Given the description of an element on the screen output the (x, y) to click on. 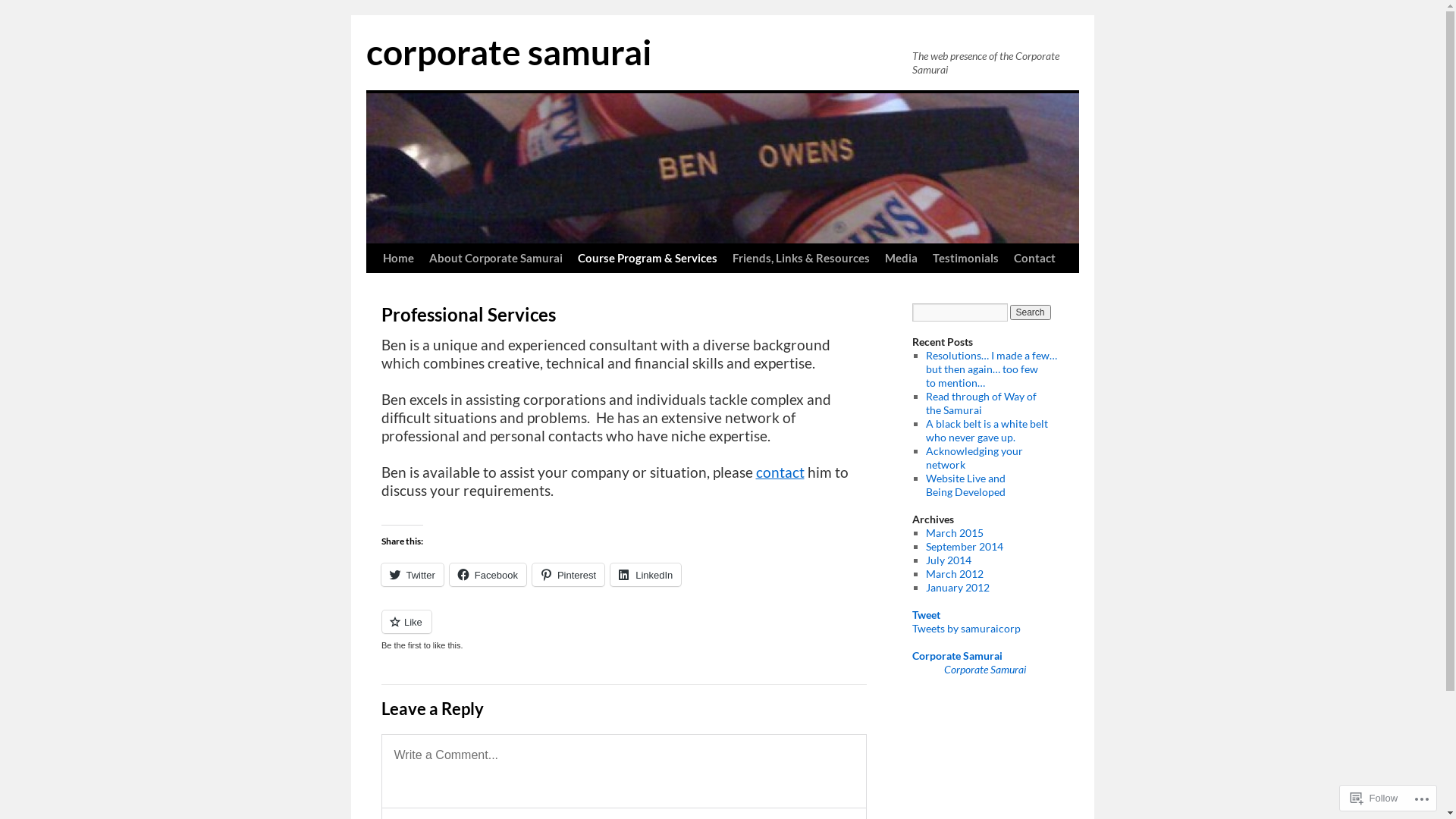
Facebook Element type: text (487, 574)
A black belt is a white belt who never gave up. Element type: text (986, 430)
Pinterest Element type: text (568, 574)
About Corporate Samurai Element type: text (495, 258)
Testimonials Element type: text (965, 258)
July 2014 Element type: text (948, 559)
Tweet Element type: text (925, 614)
LinkedIn Element type: text (645, 574)
Read through of Way of the Samurai Element type: text (980, 402)
Website Live and Being Developed Element type: text (965, 484)
March 2012 Element type: text (954, 573)
Like or Reblog Element type: hover (623, 630)
Contact Element type: text (1033, 258)
Friends, Links & Resources Element type: text (800, 258)
Follow Element type: text (1373, 797)
corporate samurai Element type: text (507, 51)
Tweets by samuraicorp Element type: text (965, 627)
Corporate Samurai Element type: text (956, 655)
Corporate Samurai Element type: text (985, 668)
Home Element type: text (397, 258)
contact Element type: text (779, 471)
March 2015 Element type: text (954, 532)
January 2012 Element type: text (957, 586)
Search Element type: text (1030, 312)
Acknowledging your network Element type: text (973, 457)
Twitter Element type: text (411, 574)
September 2014 Element type: text (964, 545)
Course Program & Services Element type: text (647, 258)
Media Element type: text (900, 258)
